Given the description of an element on the screen output the (x, y) to click on. 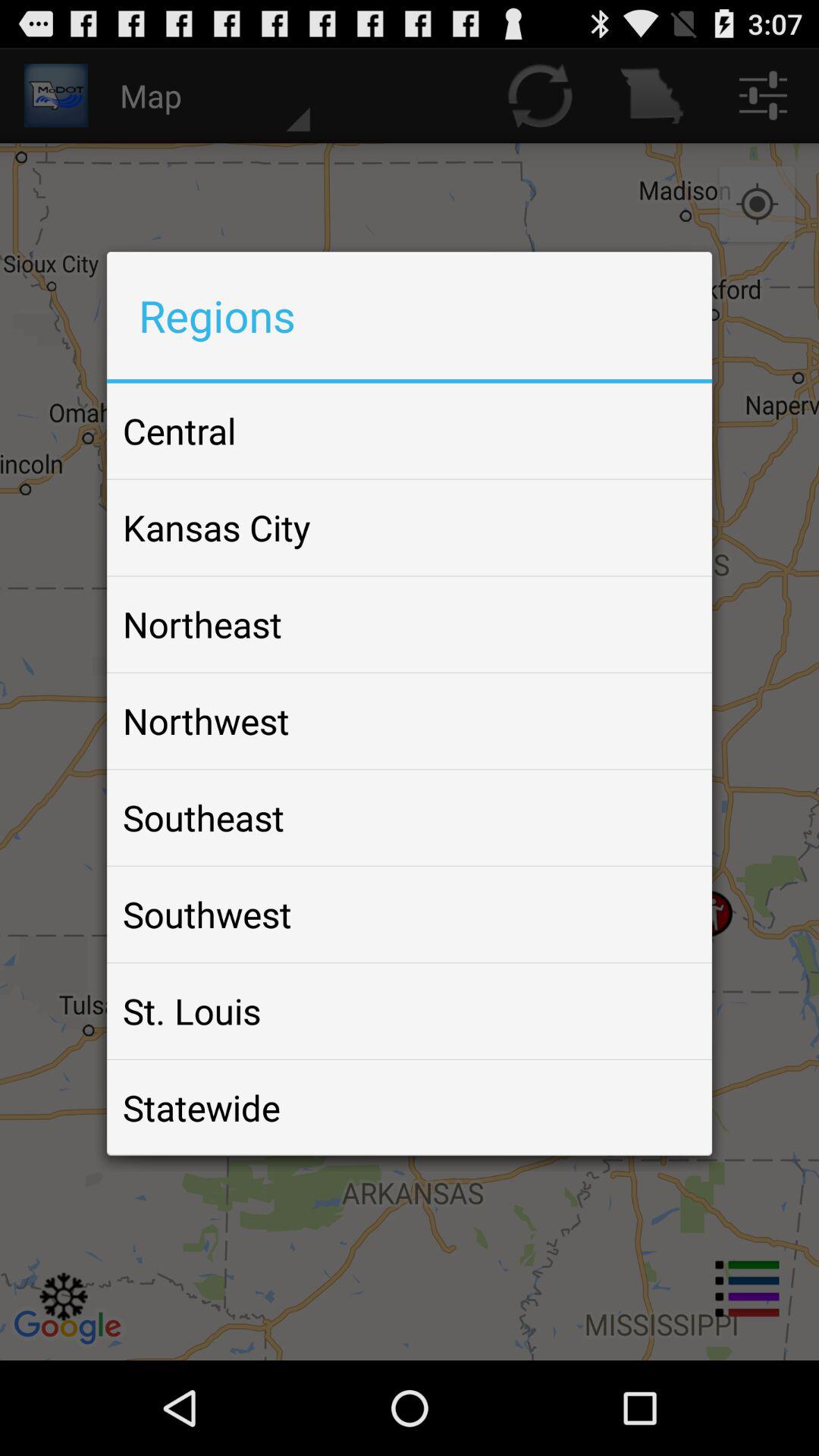
tap the st. louis icon (191, 1010)
